Given the description of an element on the screen output the (x, y) to click on. 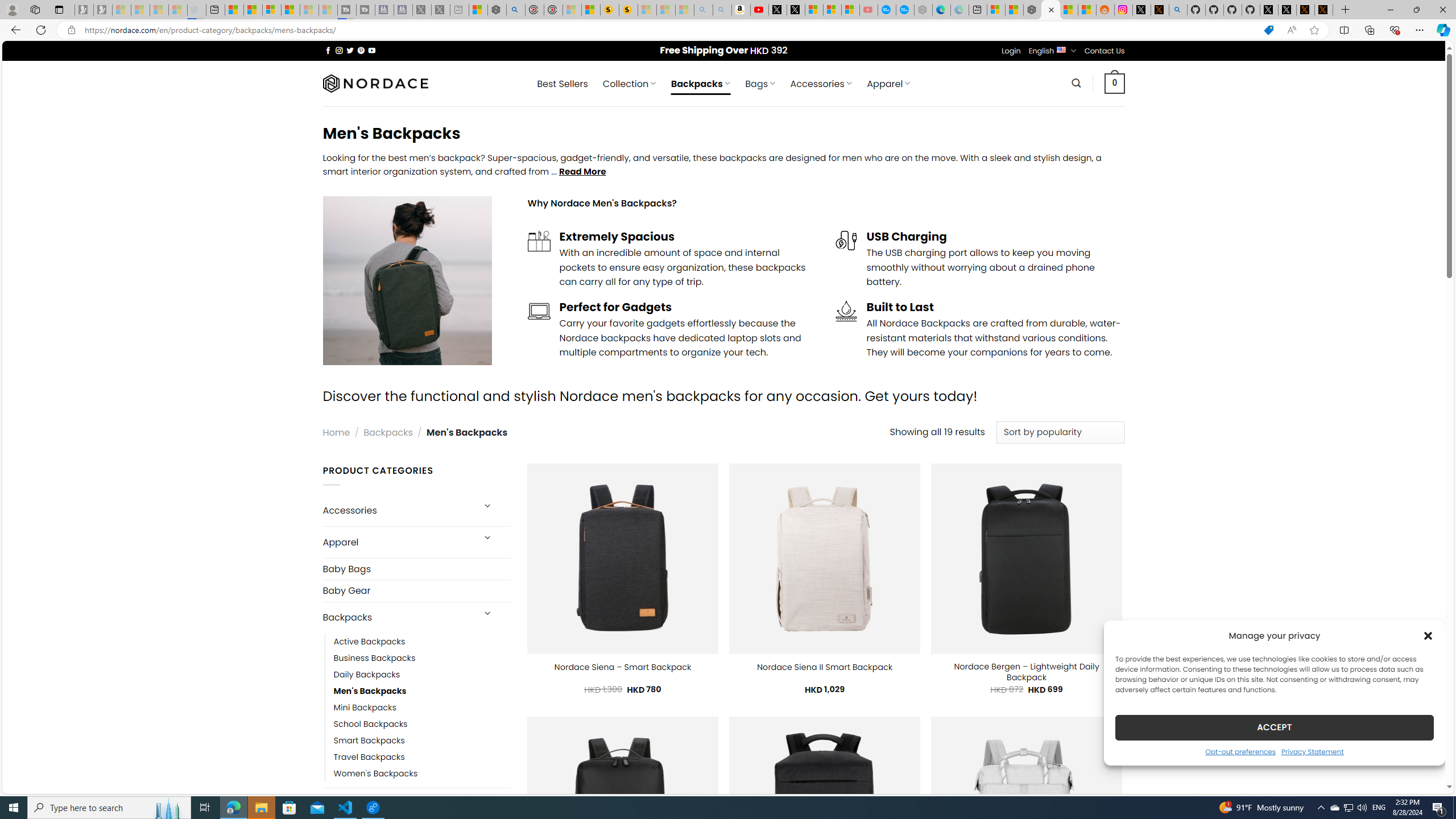
Address and search bar (669, 29)
 0  (1115, 83)
Follow on Pinterest (360, 49)
Follow on Facebook (327, 49)
Read More (582, 171)
GitHub (@github) / X (1287, 9)
Accessories (397, 510)
Overview (271, 9)
Nordace (374, 83)
Apparel (397, 542)
